Given the description of an element on the screen output the (x, y) to click on. 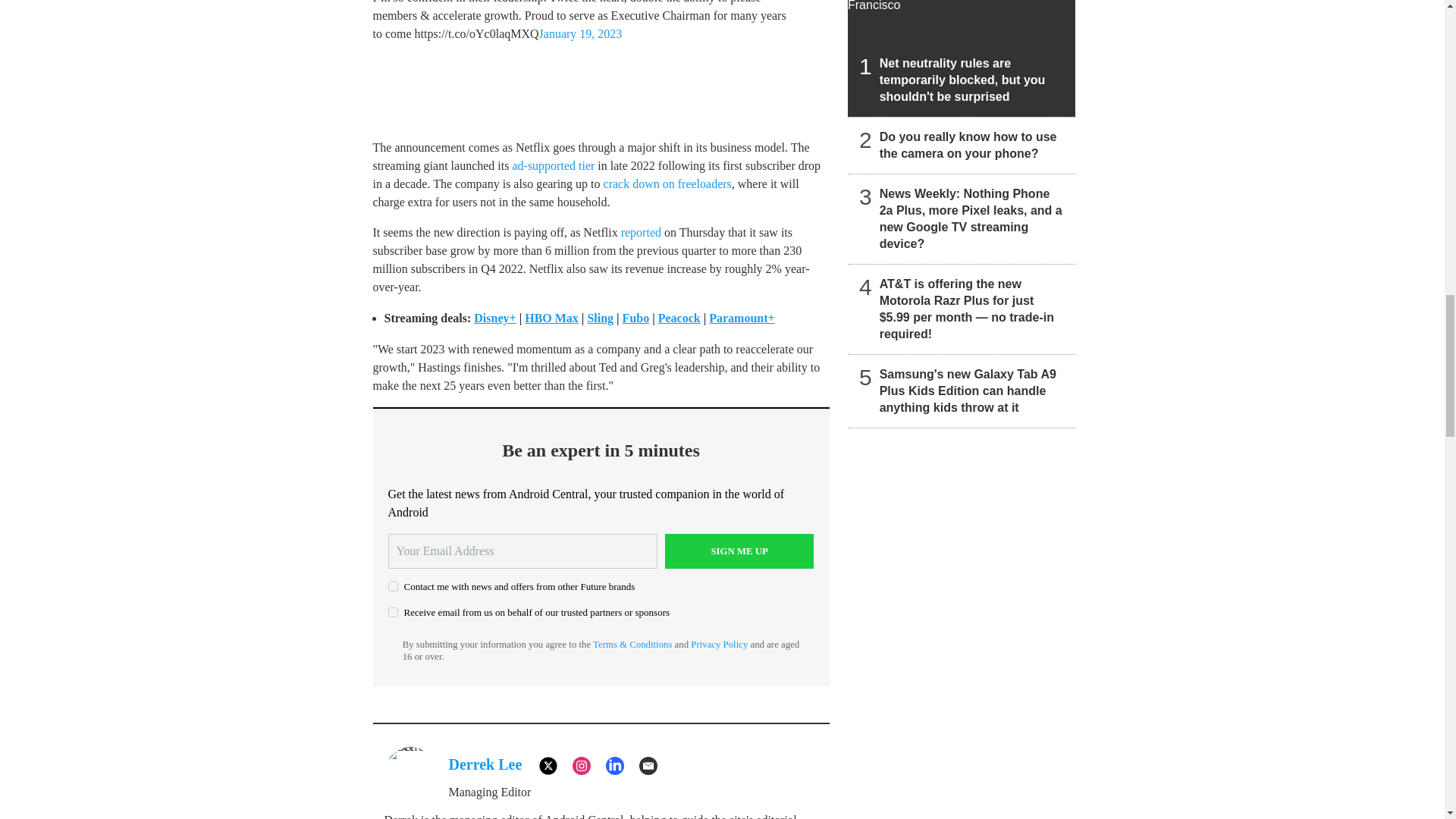
on (392, 612)
on (392, 586)
Sign me up (739, 550)
